Given the description of an element on the screen output the (x, y) to click on. 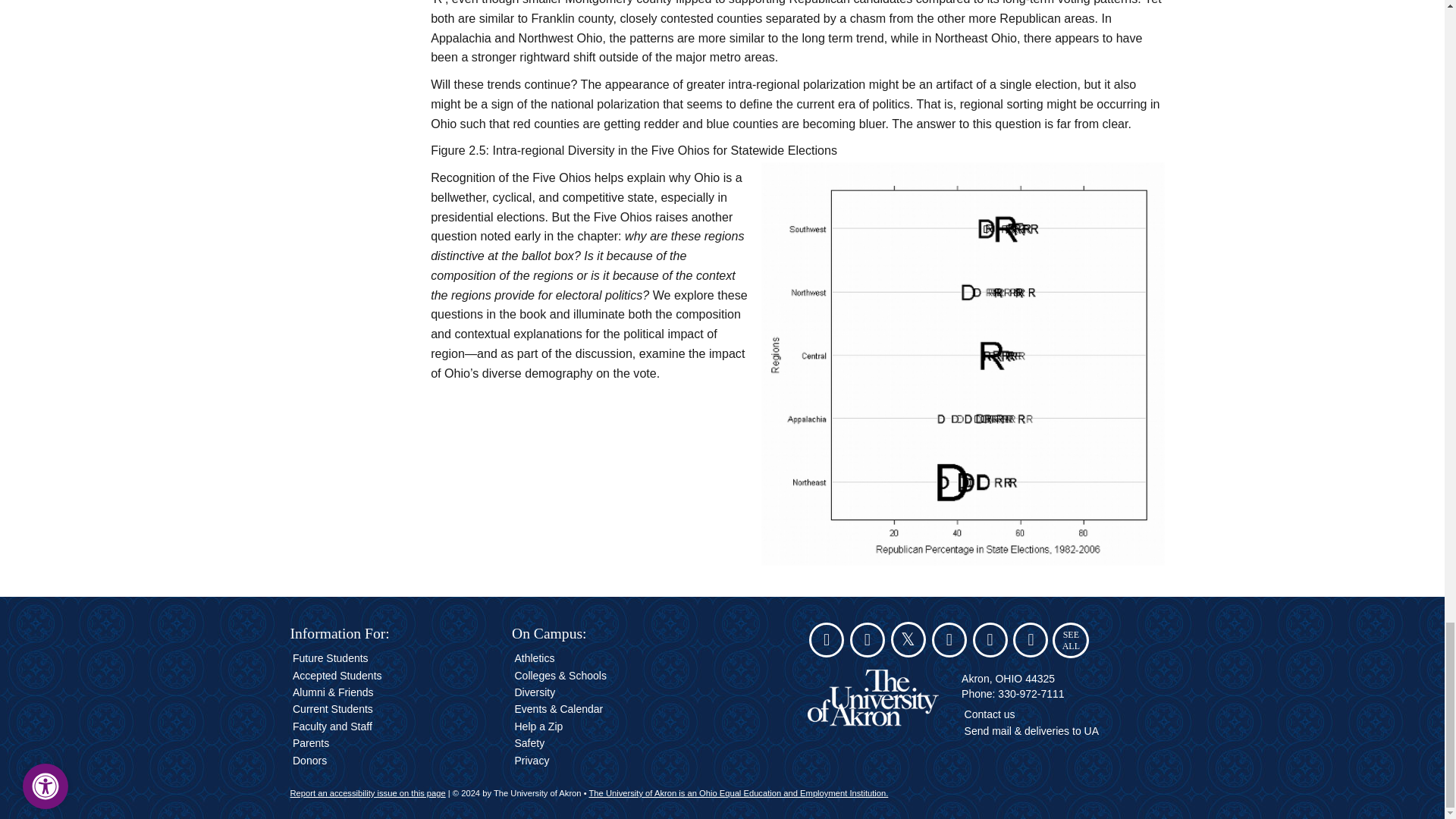
Twitter (908, 641)
Instagram (949, 641)
YouTube (990, 641)
Facebook (867, 641)
Snapchat (826, 641)
SEE ALL (1070, 640)
LinkedIn (1030, 641)
